Given the description of an element on the screen output the (x, y) to click on. 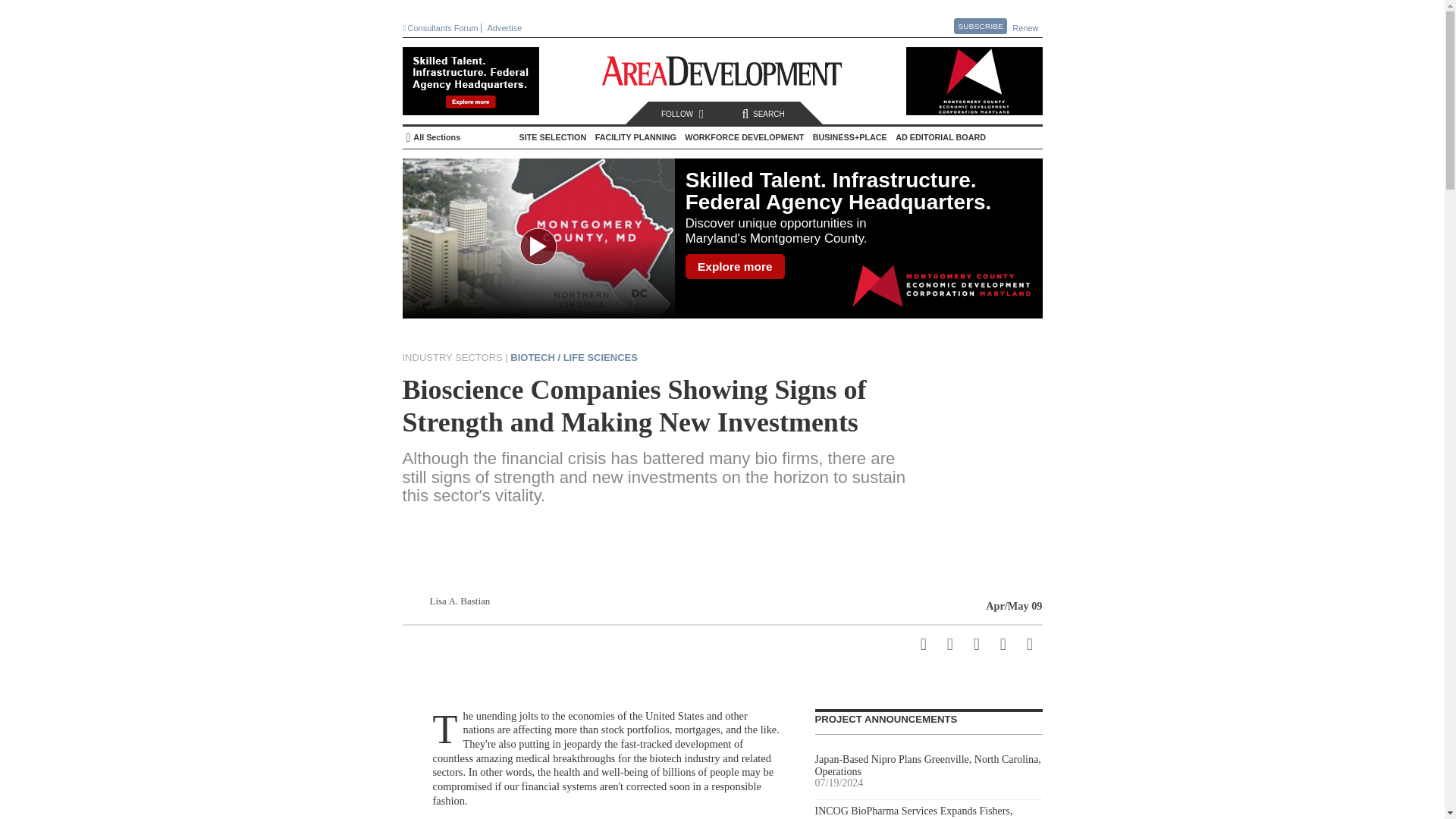
AD EDITORIAL BOARD (940, 136)
on (408, 139)
Renew (1026, 27)
Advertise (506, 27)
SUBSCRIBE (980, 26)
Consultants Forum (442, 27)
SEARCH (762, 114)
FOLLOW (684, 114)
